Given the description of an element on the screen output the (x, y) to click on. 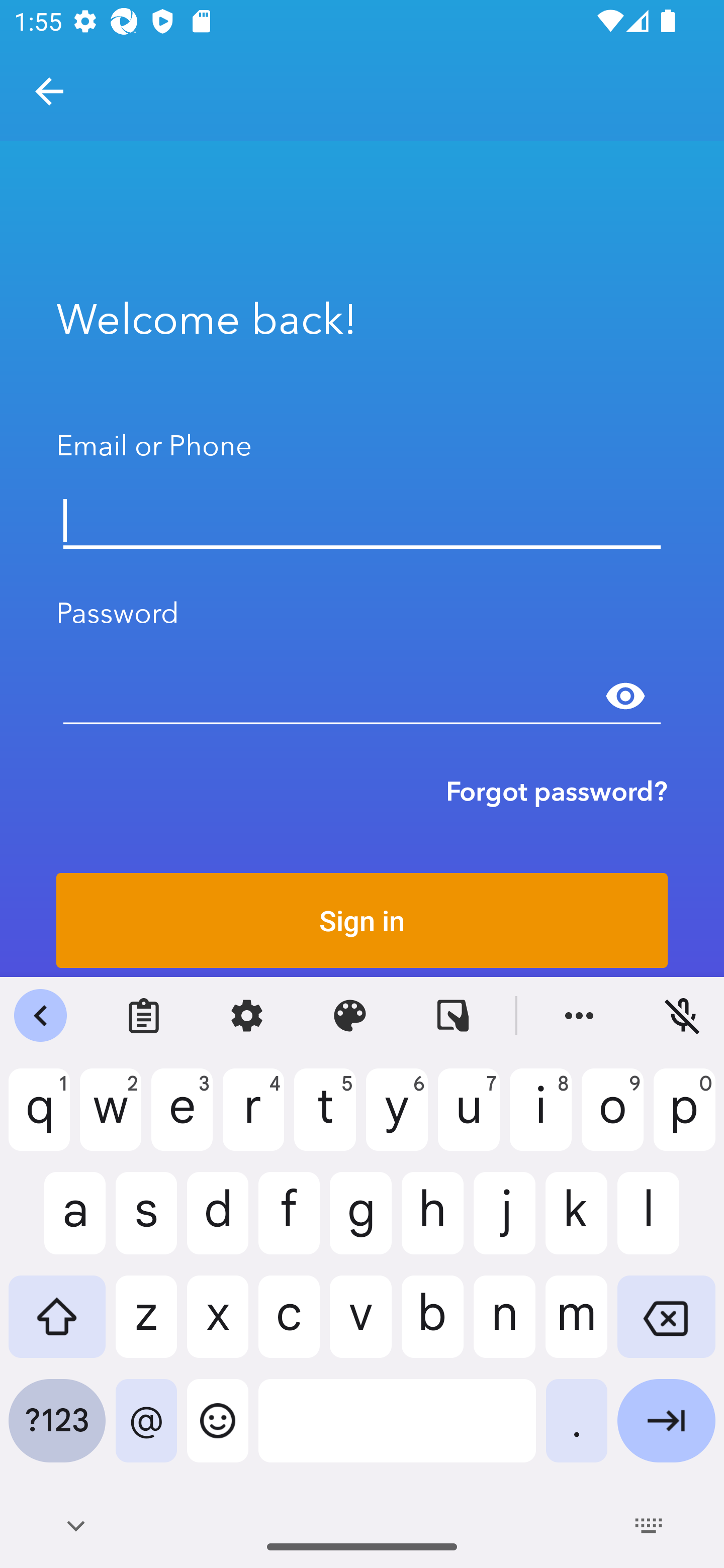
Navigate up (49, 91)
Show password (625, 695)
Forgot password? (556, 790)
Sign in (361, 920)
